Given the description of an element on the screen output the (x, y) to click on. 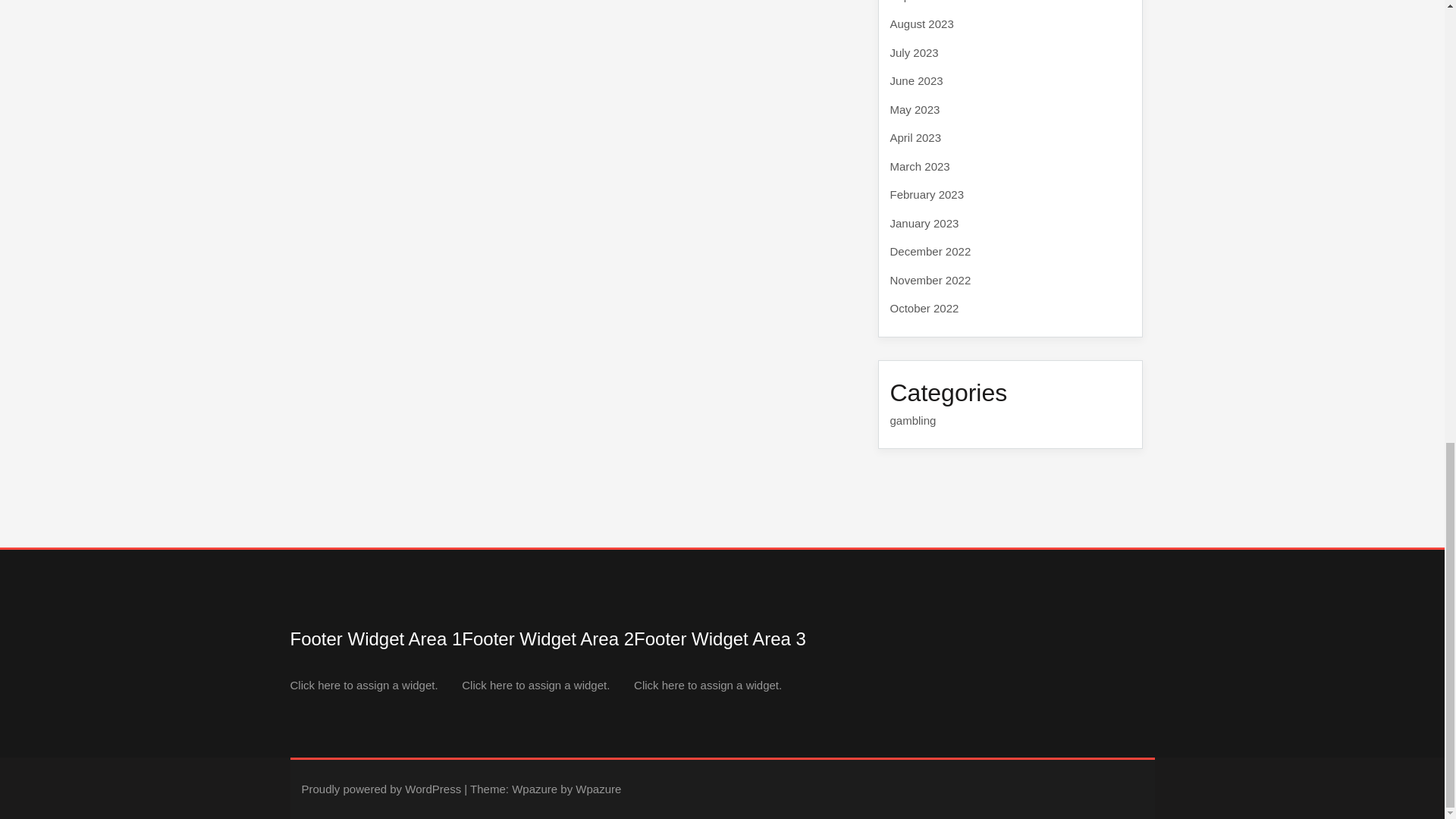
January 2023 (924, 223)
December 2022 (930, 250)
February 2023 (926, 194)
March 2023 (919, 164)
gambling (912, 420)
Click here to assign a widget. (535, 684)
June 2023 (916, 80)
Click here to assign a widget. (707, 684)
Proudly powered by WordPress (381, 788)
September 2023 (931, 1)
November 2022 (930, 278)
Click here to assign a widget. (363, 684)
May 2023 (914, 109)
August 2023 (921, 23)
October 2022 (924, 308)
